Given the description of an element on the screen output the (x, y) to click on. 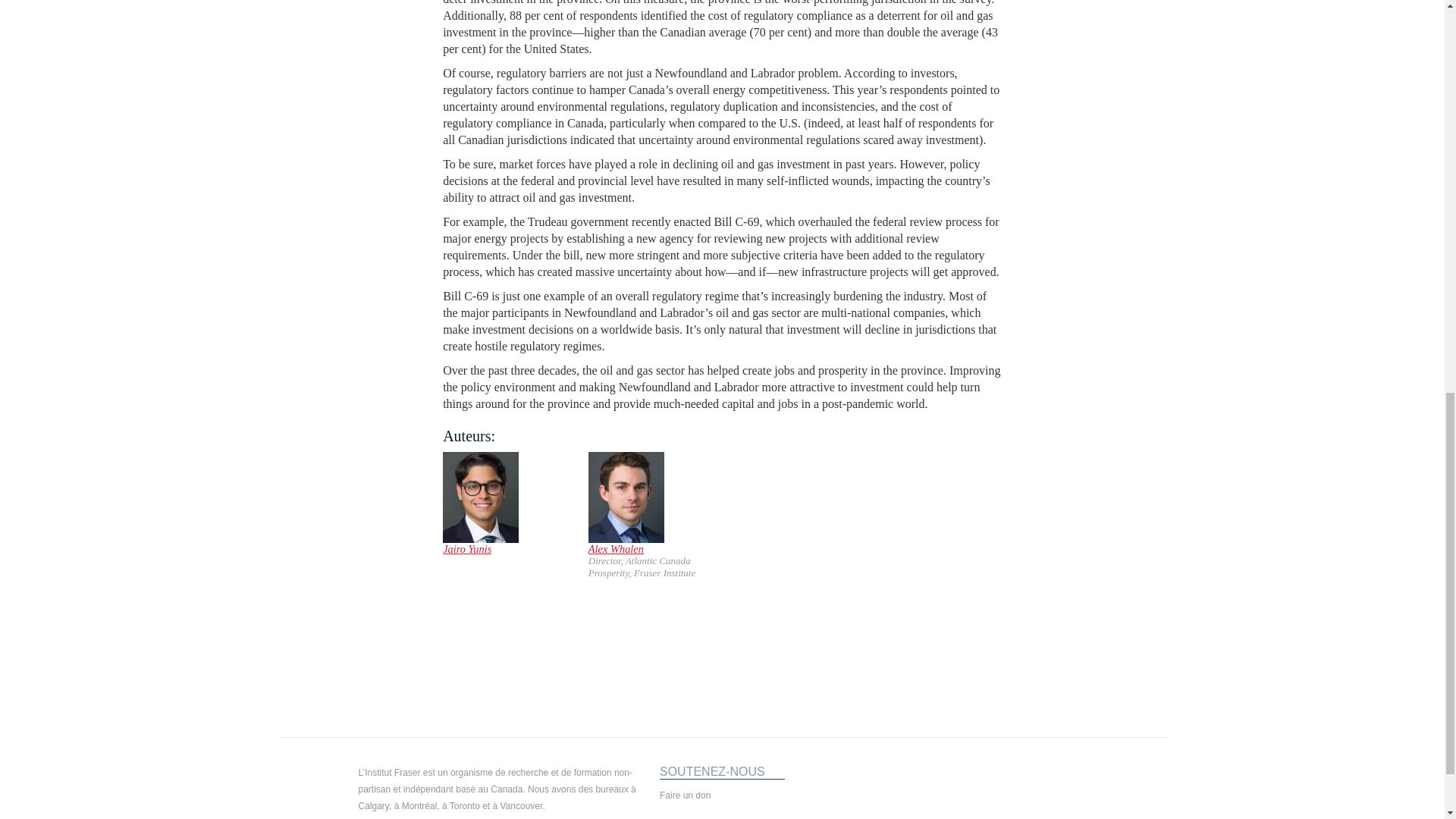
Alex Whalen (615, 548)
Faire un don (684, 795)
Jairo Yunis (467, 548)
